Given the description of an element on the screen output the (x, y) to click on. 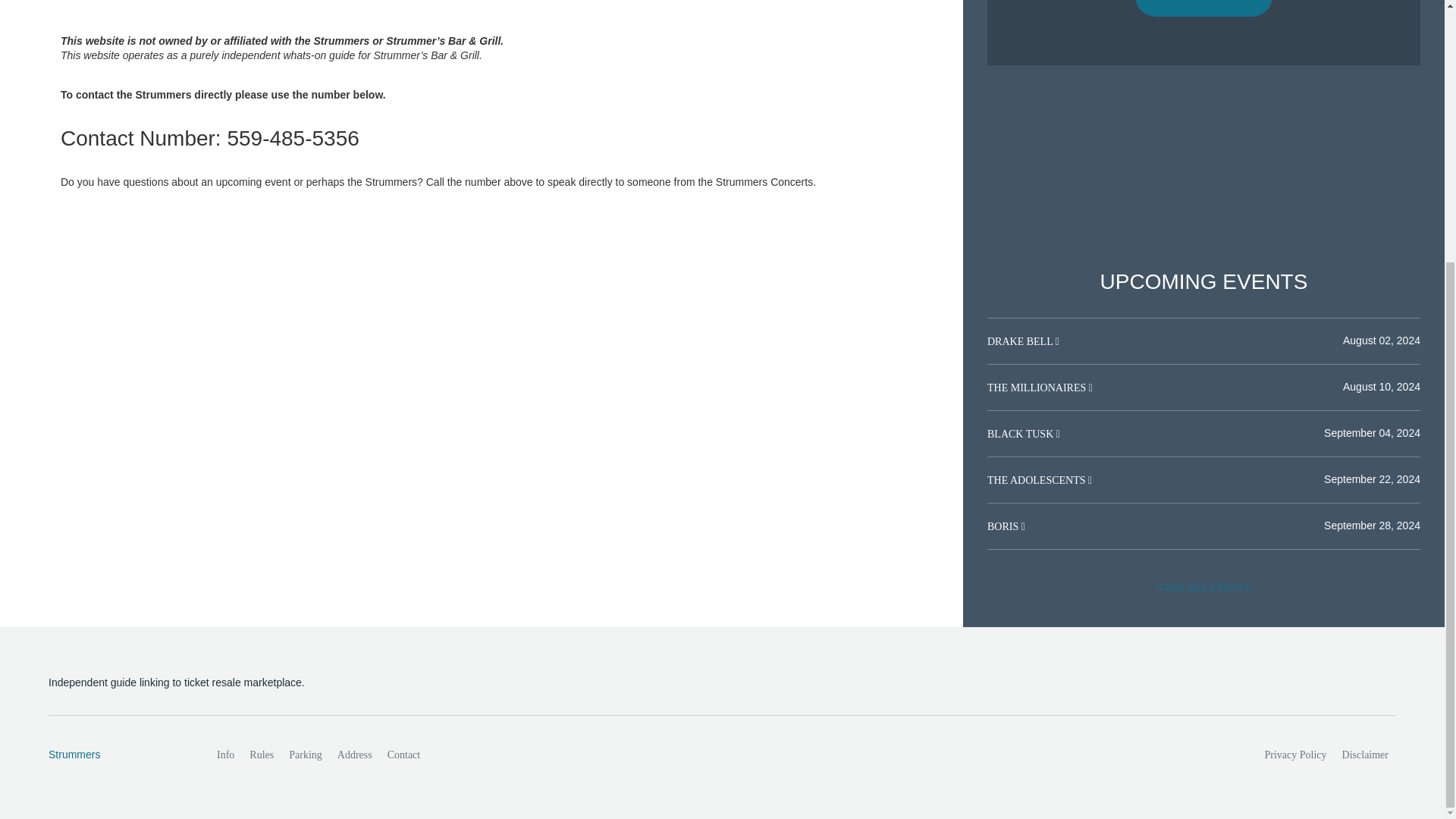
Advertisement (500, 16)
Contact (404, 755)
Disclaimer (1365, 755)
Info (225, 755)
Privacy Policy (1296, 755)
Parking (305, 755)
Strummers (116, 754)
Rules (261, 755)
Address (355, 755)
VIEW ALL EVENTS (1203, 588)
Advertisement (1204, 167)
